Given the description of an element on the screen output the (x, y) to click on. 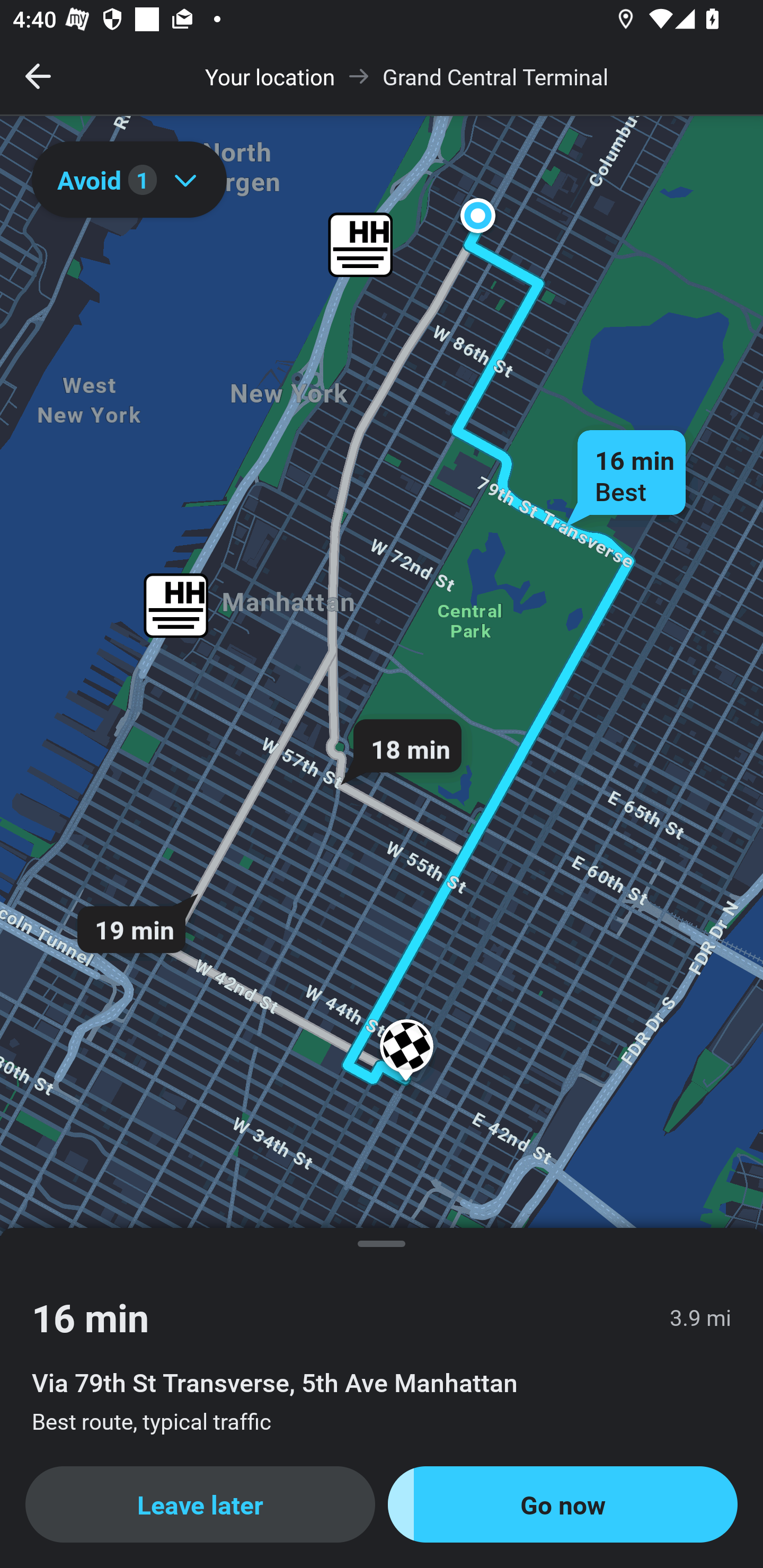
Leave later (200, 1504)
Go now (562, 1504)
